Given the description of an element on the screen output the (x, y) to click on. 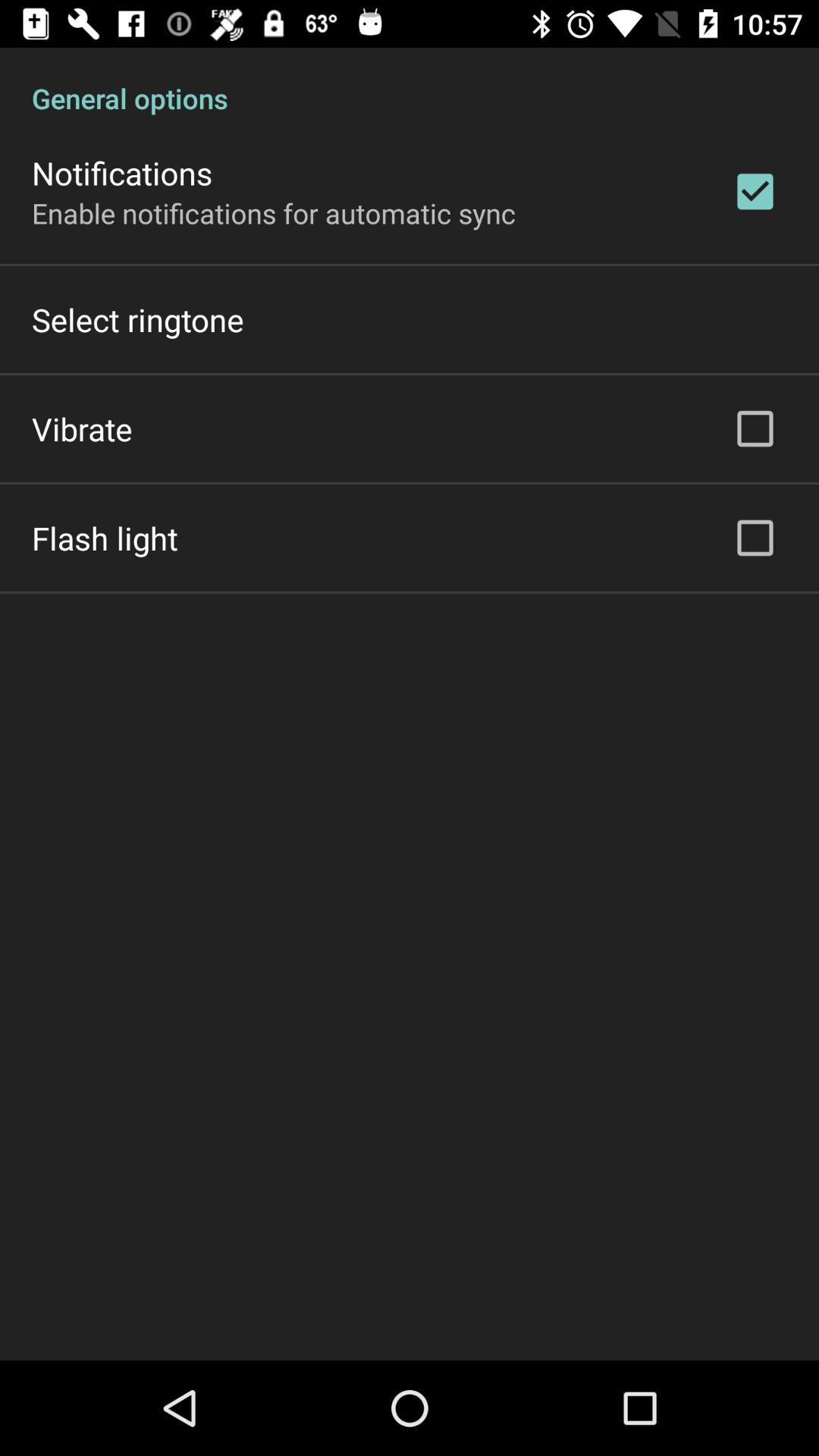
open the item above notifications icon (409, 82)
